Given the description of an element on the screen output the (x, y) to click on. 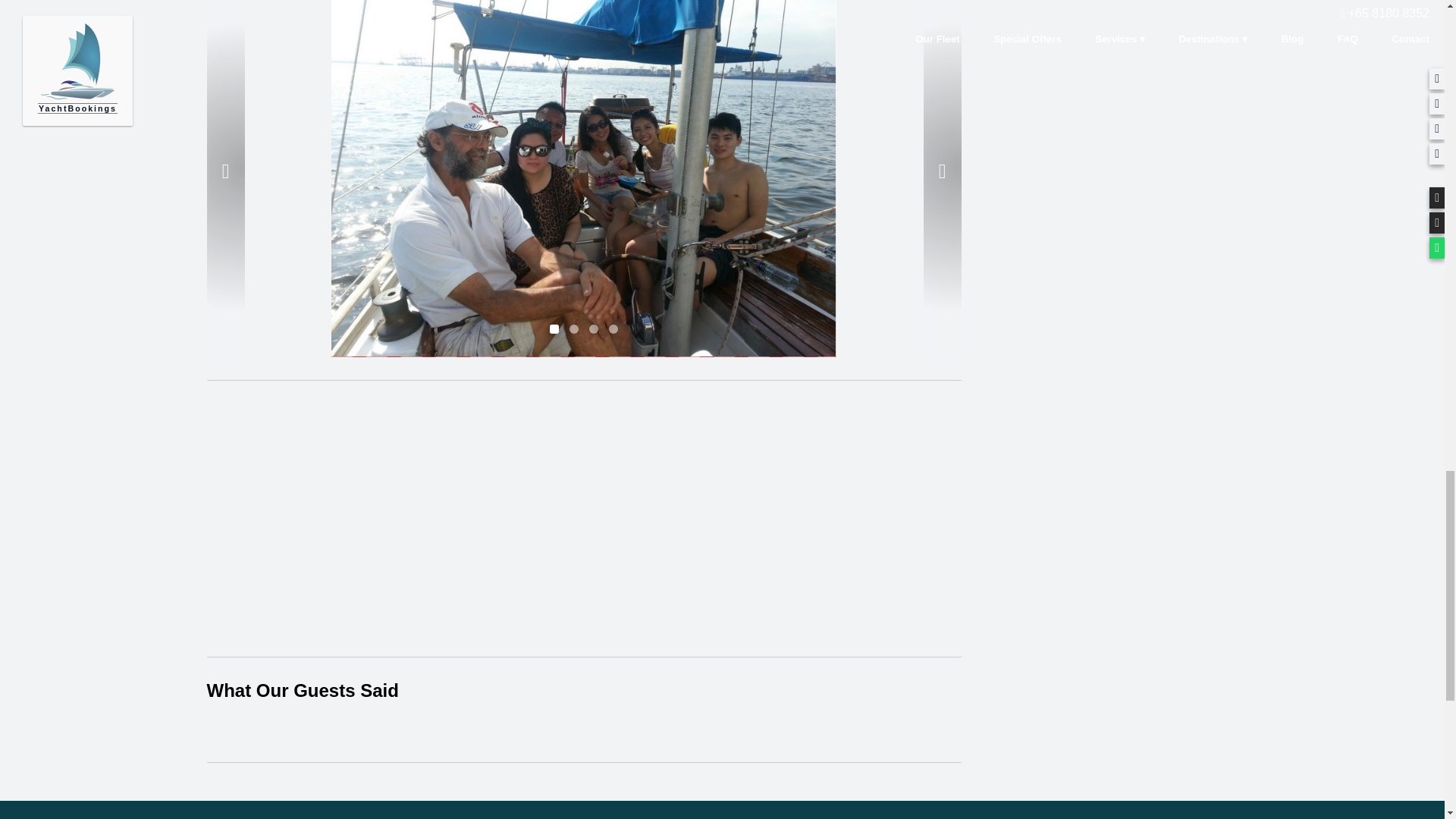
Yacht Blue Eagle (721, 310)
